Given the description of an element on the screen output the (x, y) to click on. 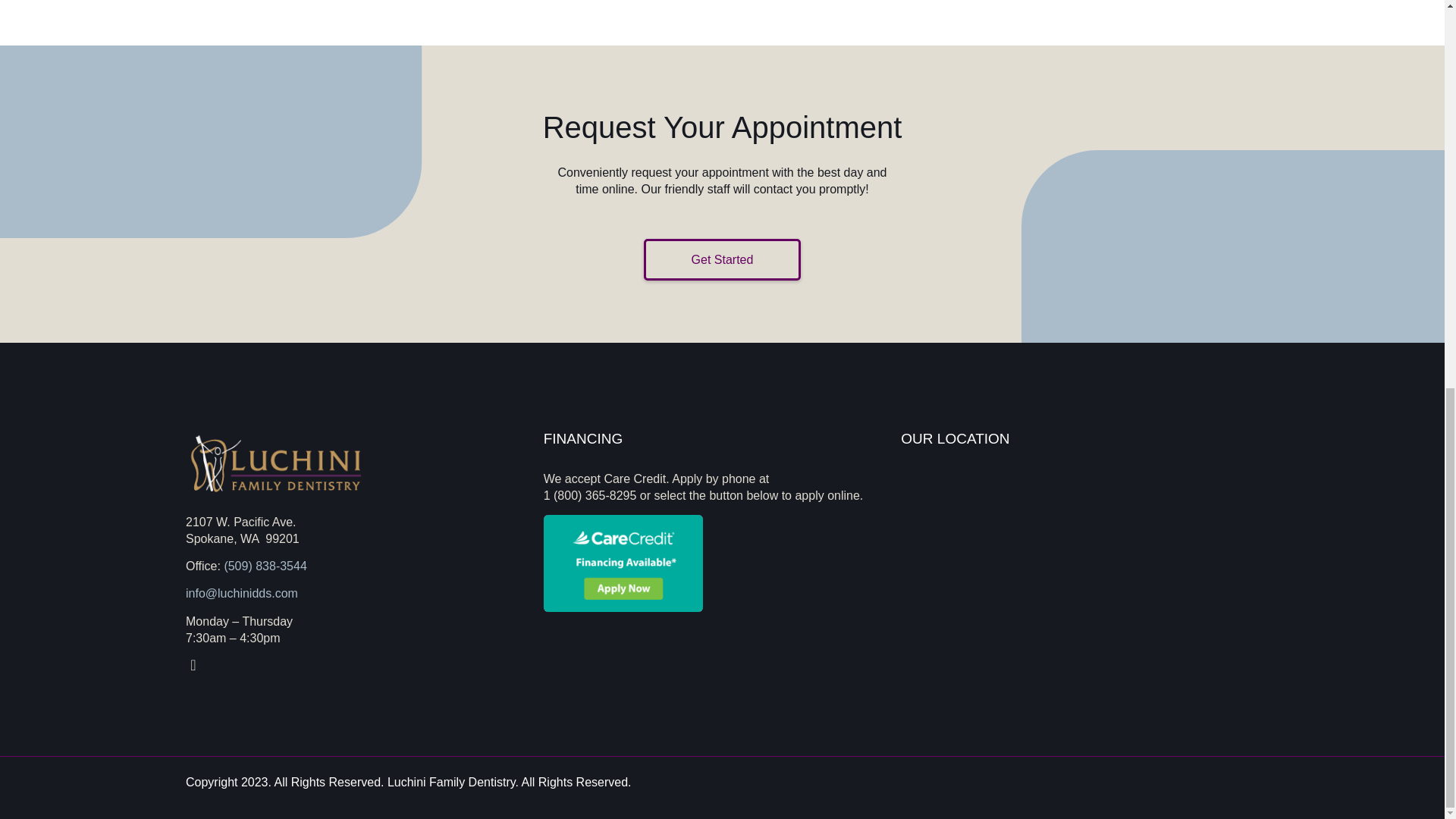
2107 W. Pacific Ave. Spokane, WA  99201 (1080, 584)
Get Started (722, 259)
